Given the description of an element on the screen output the (x, y) to click on. 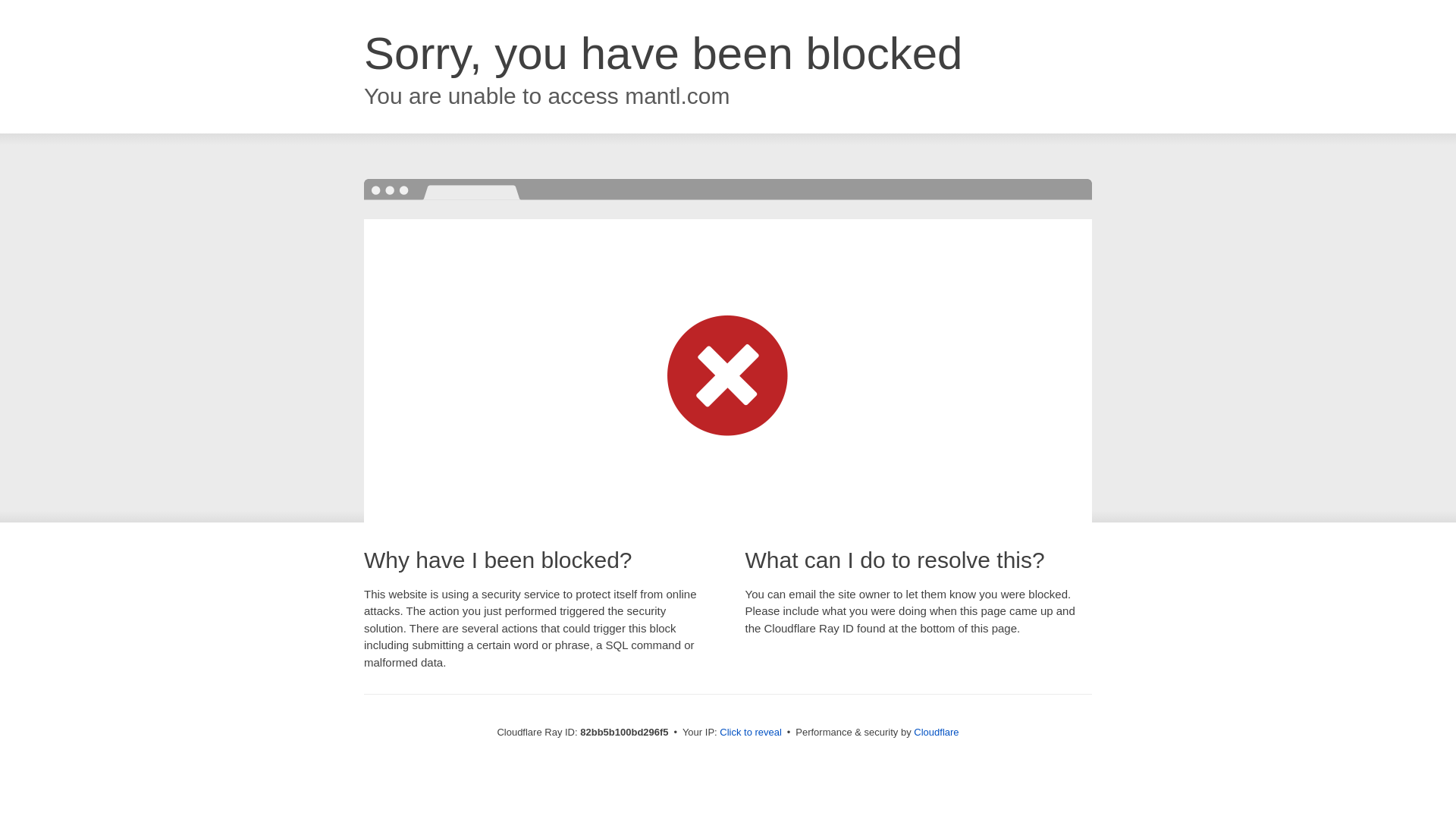
Click to reveal Element type: text (750, 732)
Cloudflare Element type: text (935, 731)
